Given the description of an element on the screen output the (x, y) to click on. 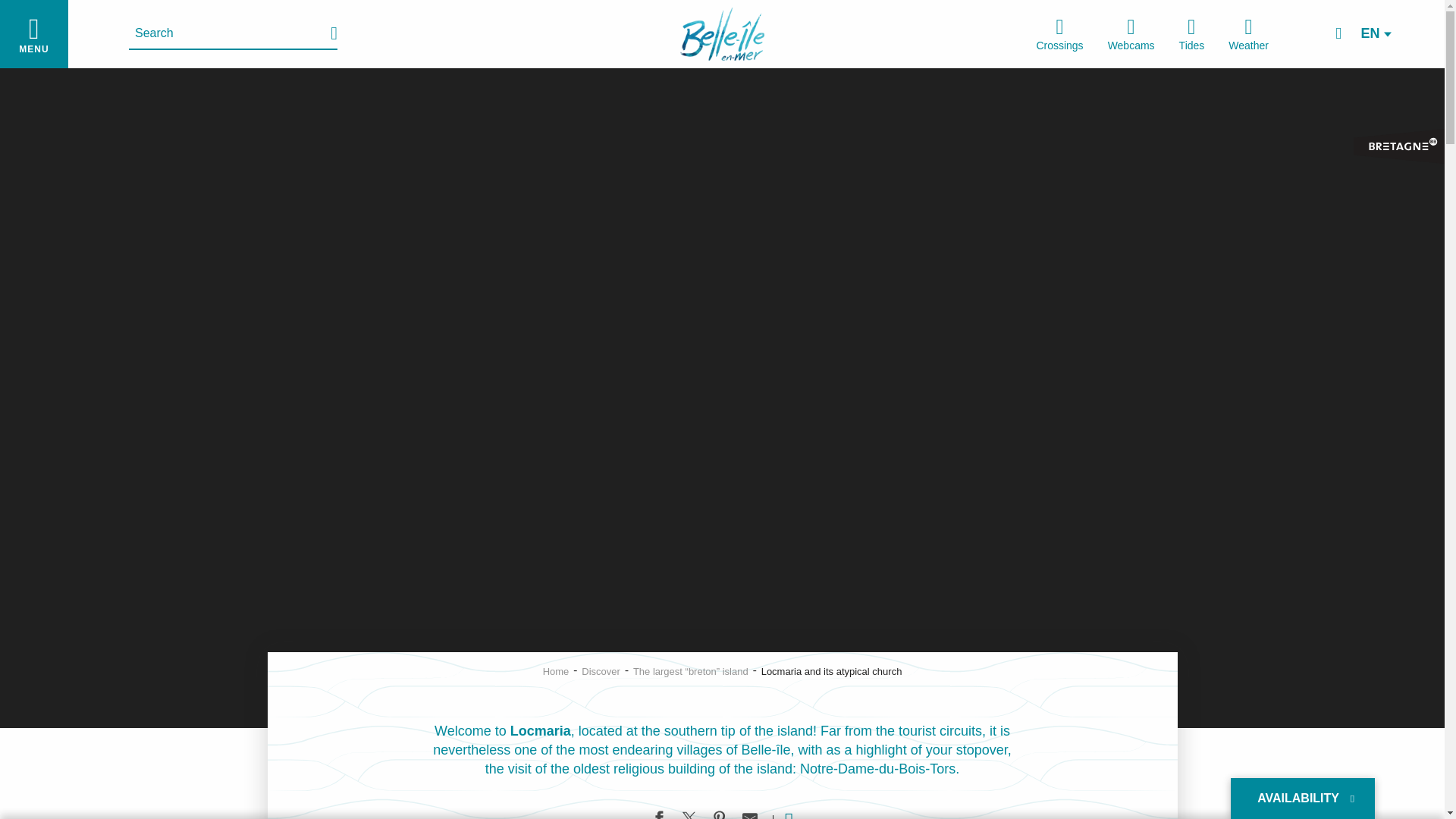
Share on Twitter (689, 814)
Share on Facebook (658, 814)
Share on Pinterest (718, 814)
Discover (600, 671)
Share by email (749, 814)
Home (556, 671)
